Given the description of an element on the screen output the (x, y) to click on. 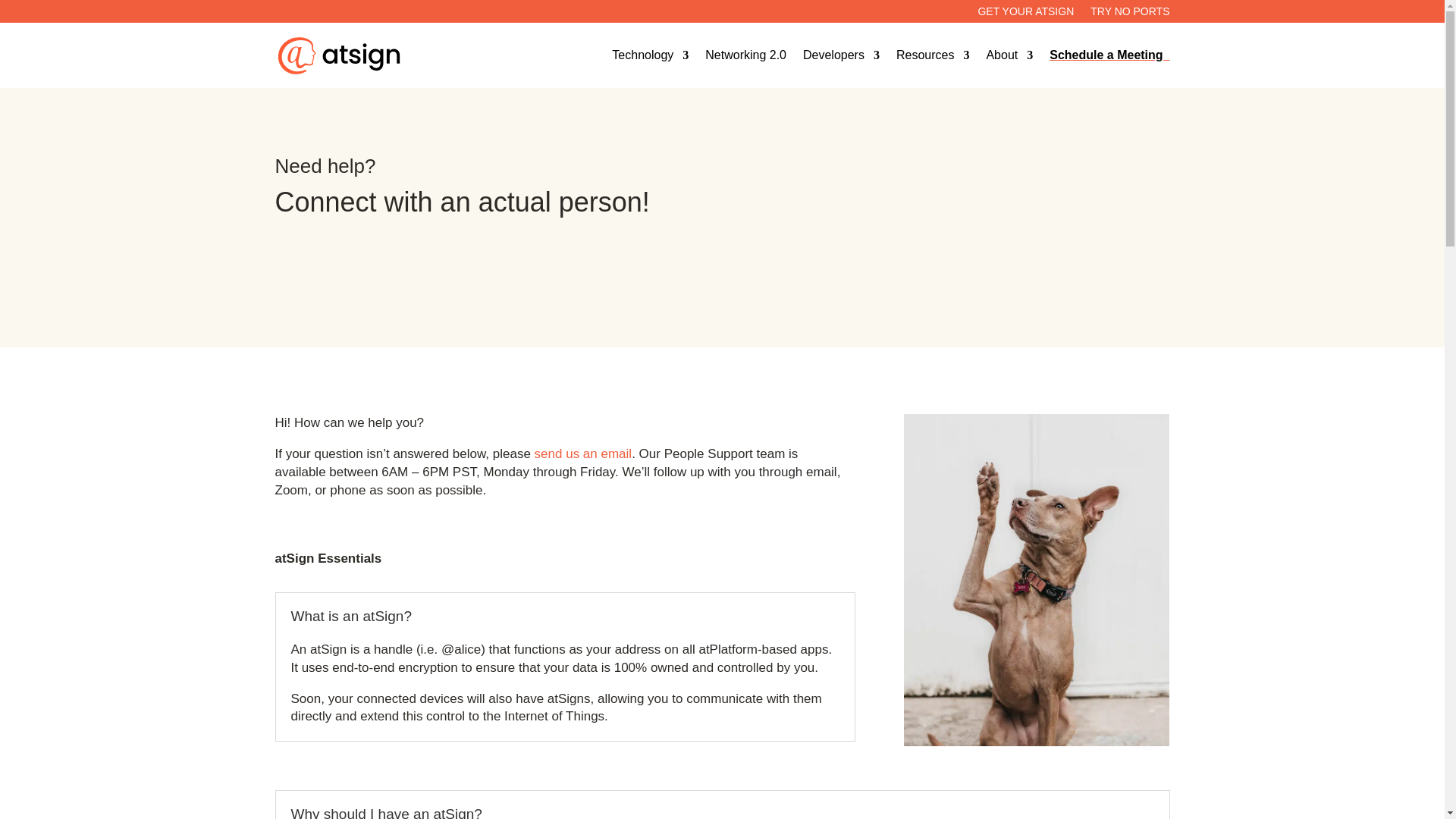
Technology (649, 55)
TRY NO PORTS (1129, 13)
Developers (841, 55)
Resources (932, 55)
send us an email (582, 453)
Schedule a Meeting   (1109, 55)
GET YOUR ATSIGN (1025, 13)
Networking 2.0 (745, 55)
